Given the description of an element on the screen output the (x, y) to click on. 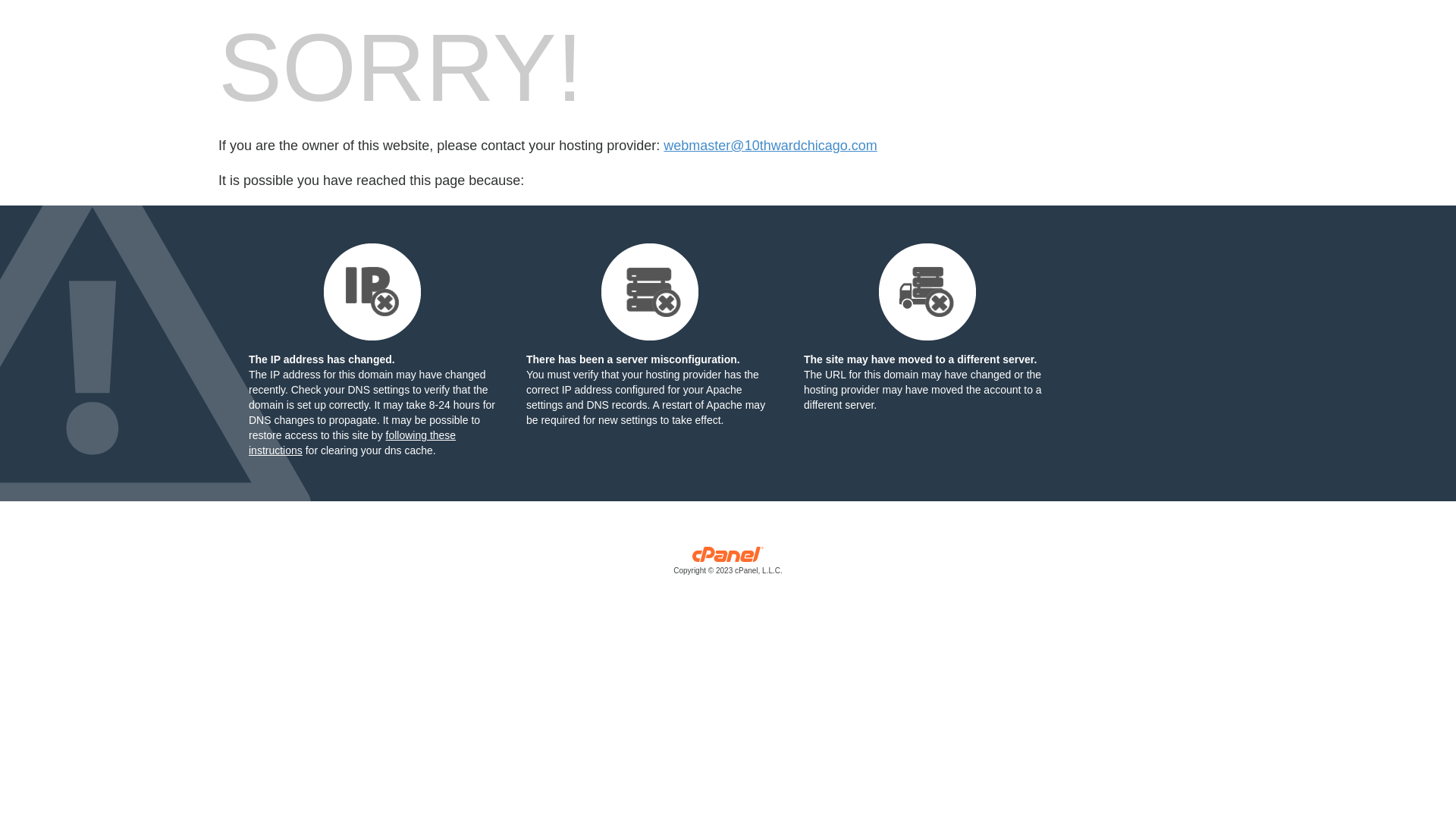
webmaster@10thwardchicago.com Element type: text (769, 145)
following these instructions Element type: text (351, 442)
